Given the description of an element on the screen output the (x, y) to click on. 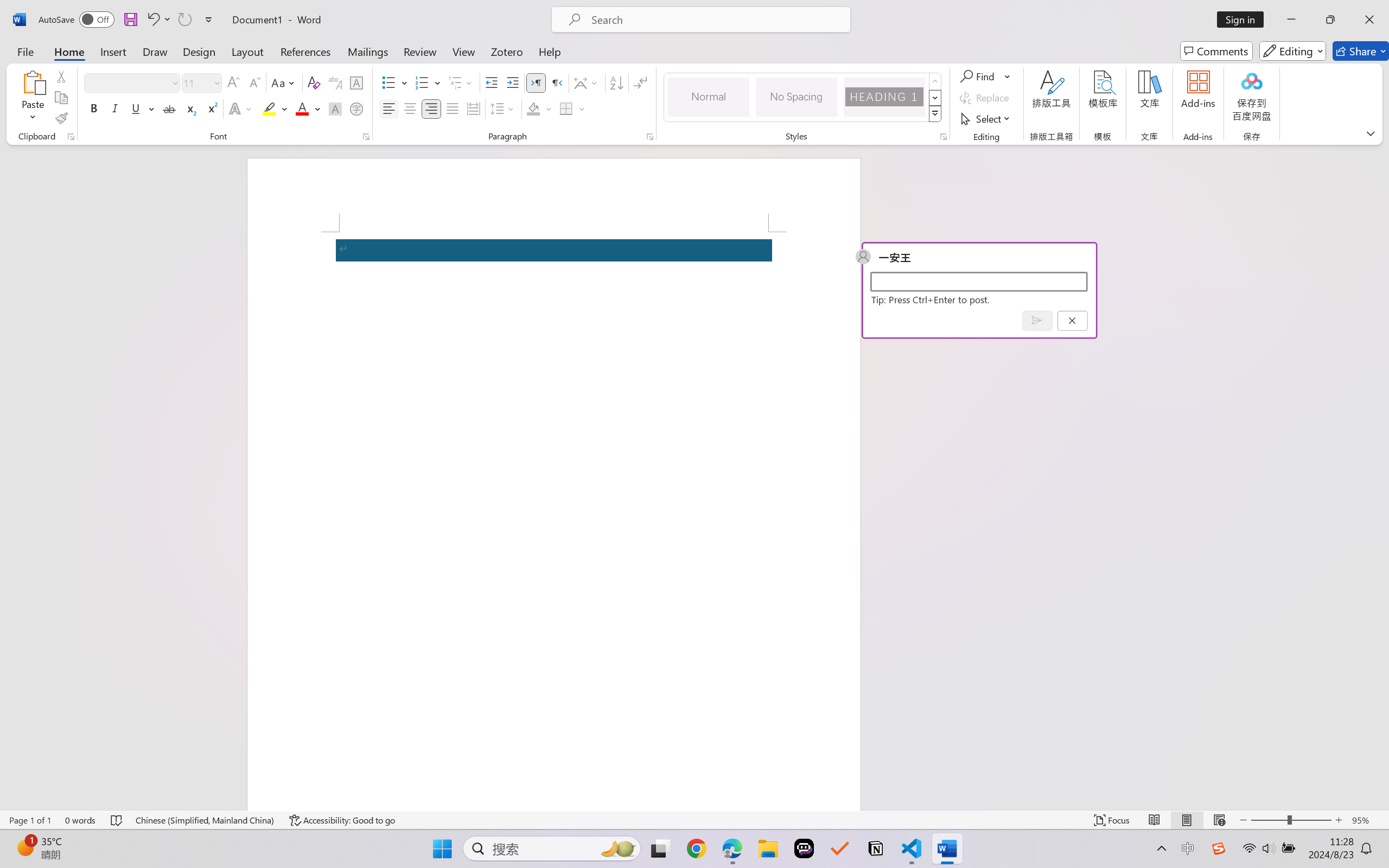
Editing (1292, 50)
